Given the description of an element on the screen output the (x, y) to click on. 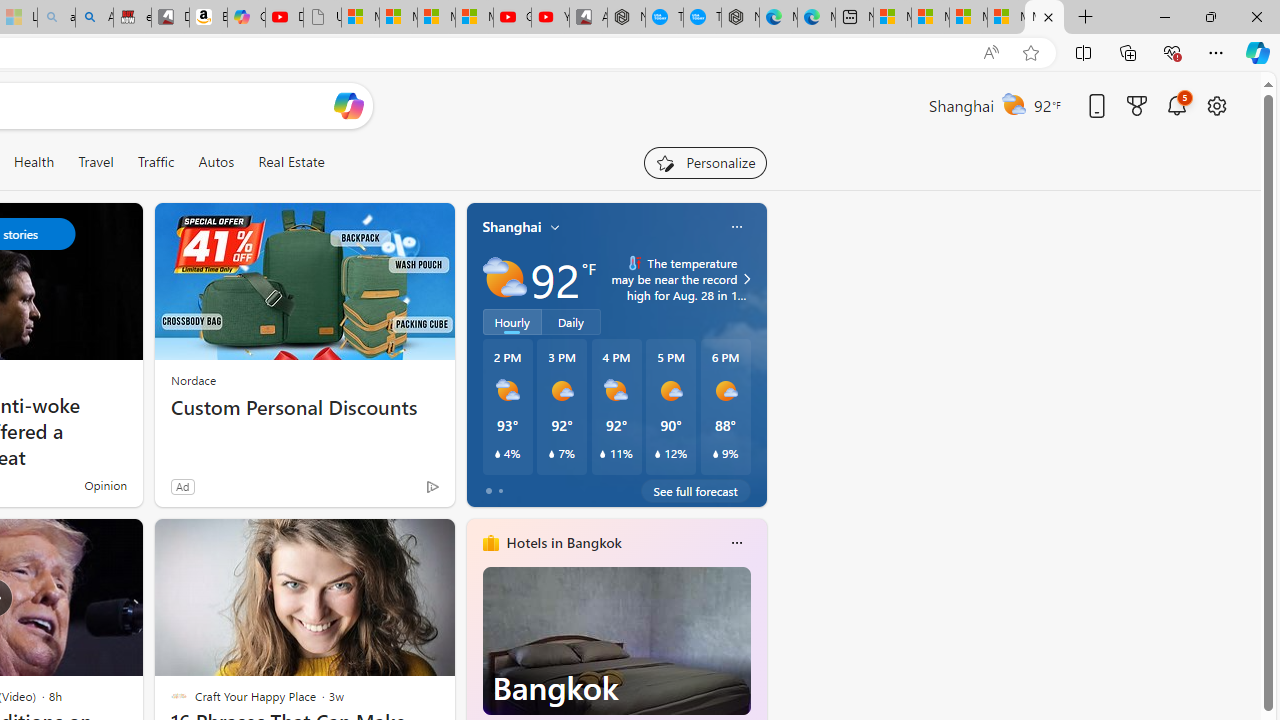
amazon - Search - Sleeping (56, 17)
next (756, 670)
See full forecast (695, 490)
Nordace - Nordace has arrived Hong Kong (740, 17)
Shanghai (511, 227)
Personalize your feed" (704, 162)
